Given the description of an element on the screen output the (x, y) to click on. 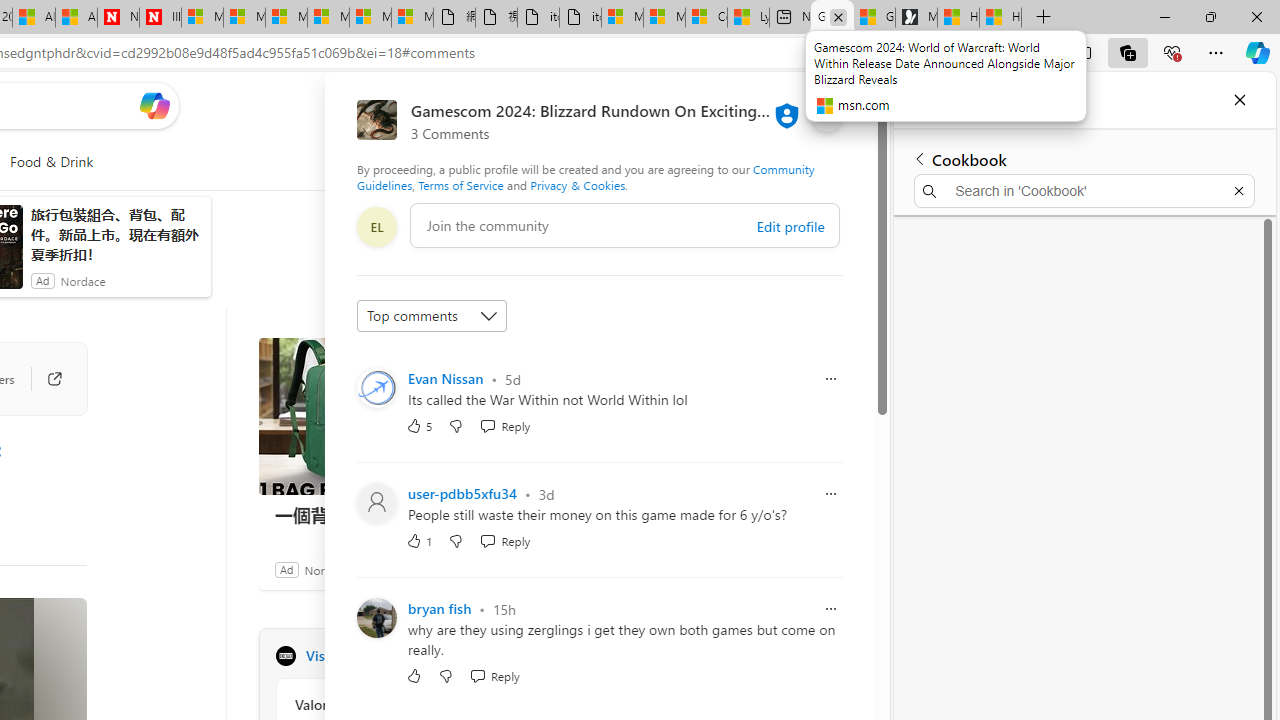
Visit CGMagazine website (532, 655)
How to Use a TV as a Computer Monitor (1000, 17)
Profile Picture (376, 617)
1 Like (419, 540)
Terms of Service (461, 184)
user-pdbb5xfu34 (463, 493)
Exit search (1238, 190)
